Given the description of an element on the screen output the (x, y) to click on. 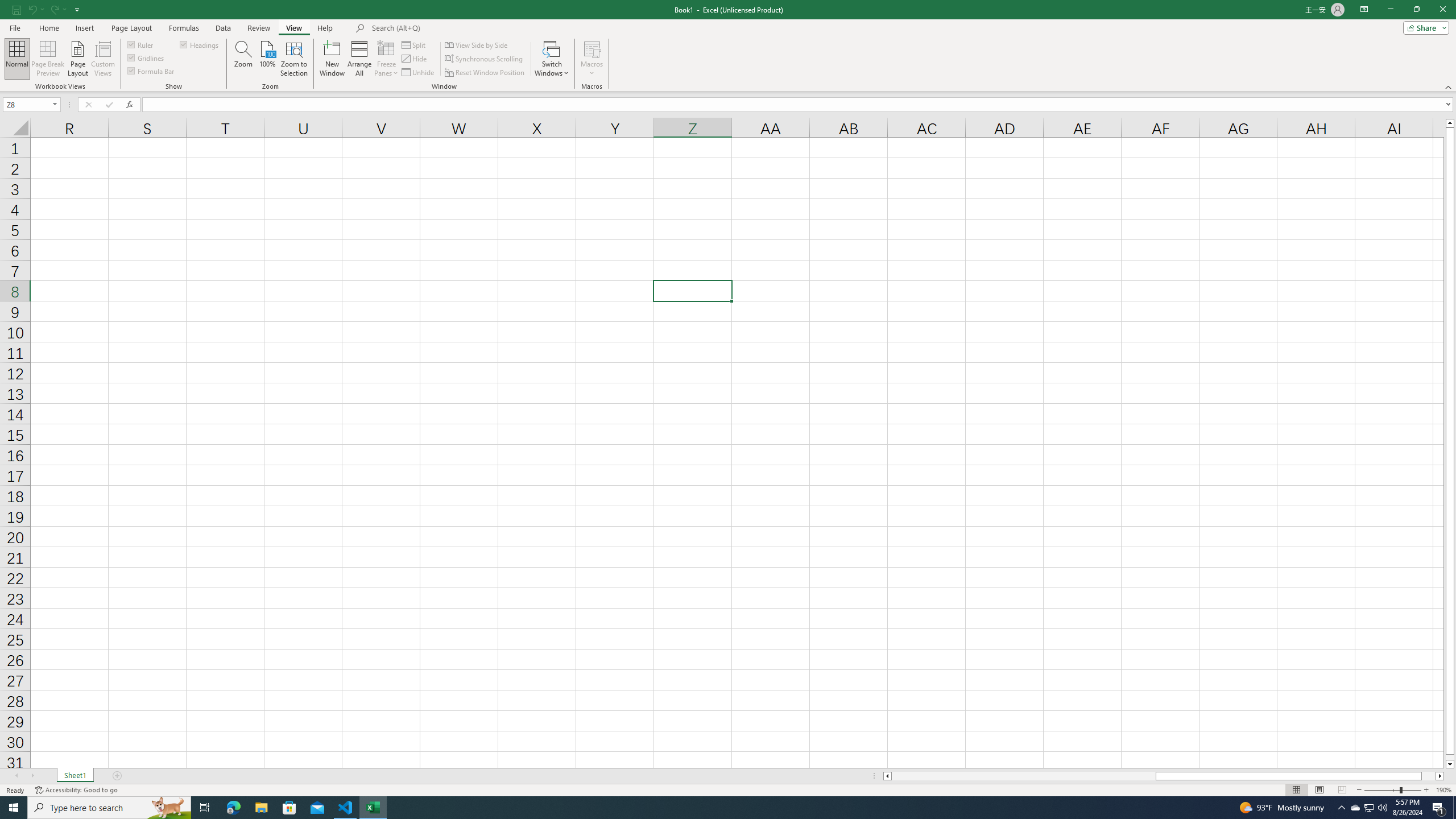
View Macros (591, 48)
Headings (199, 44)
Custom Views... (103, 58)
